Given the description of an element on the screen output the (x, y) to click on. 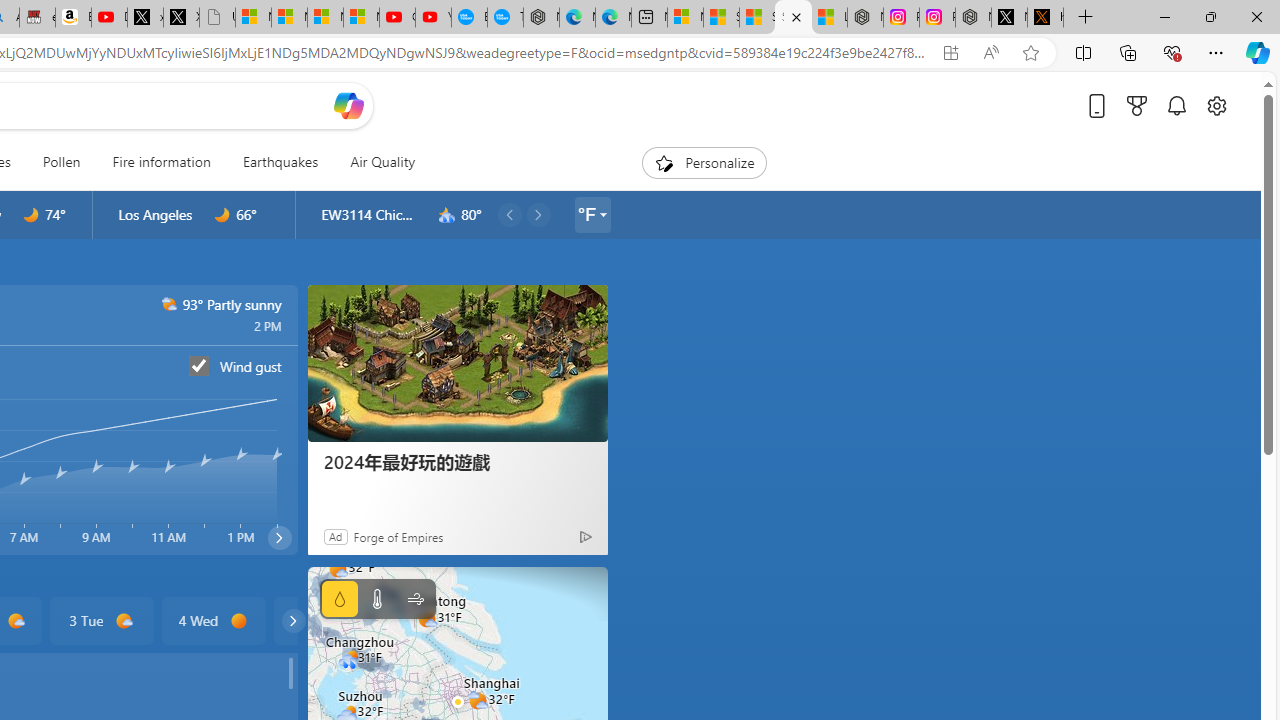
n0000 (221, 215)
d1000 (124, 621)
Wind gust (199, 365)
YouTube Kids - An App Created for Kids to Explore Content (433, 17)
Air Quality (375, 162)
d0000 (239, 621)
5 Thu d1000 (324, 620)
3 Tue d1000 (100, 620)
Pollen (61, 162)
Untitled (217, 17)
